Given the description of an element on the screen output the (x, y) to click on. 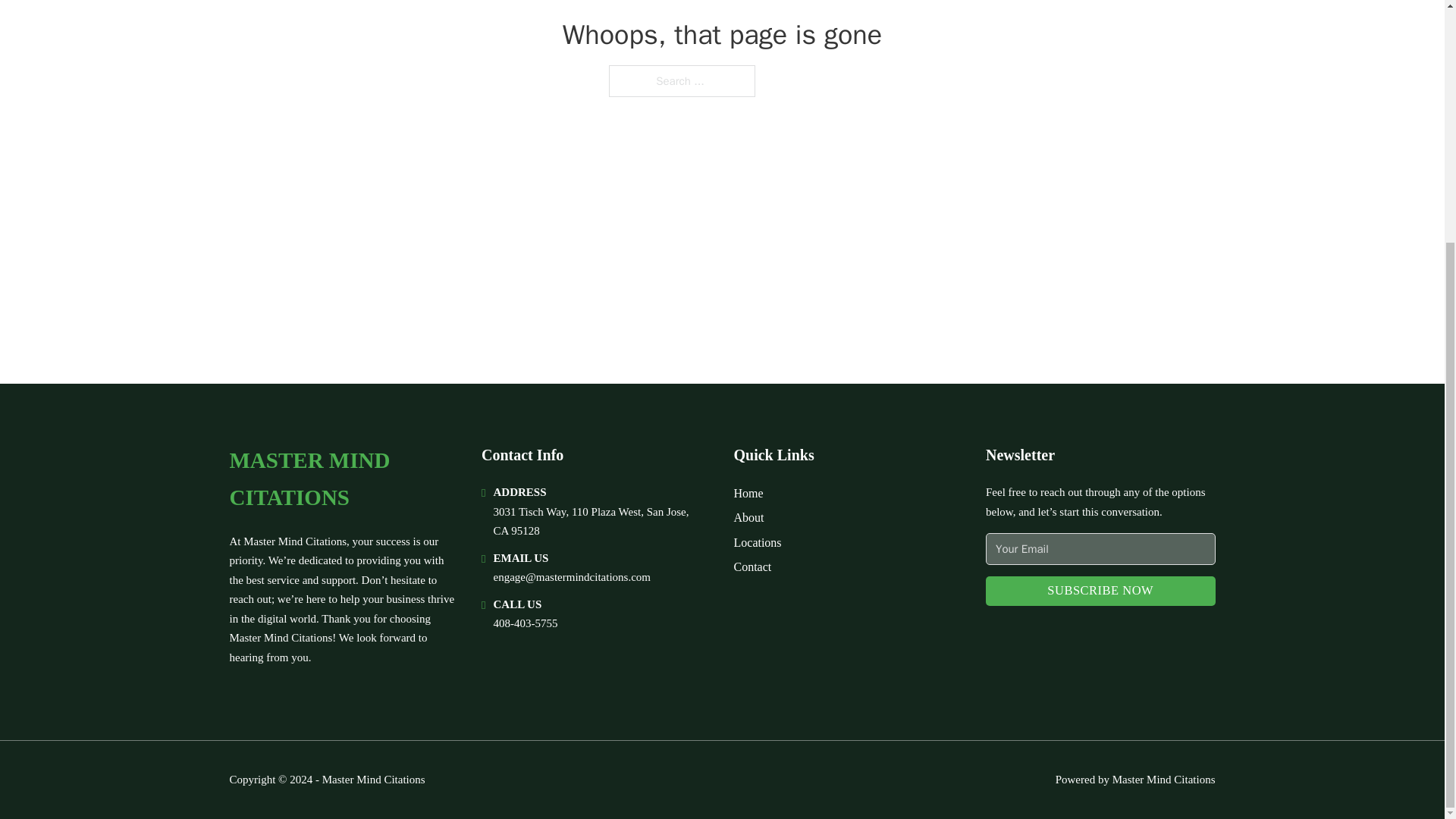
Contact (752, 566)
MASTER MIND CITATIONS (343, 479)
Home (747, 493)
Locations (757, 542)
SUBSCRIBE NOW (1100, 591)
About (748, 516)
408-403-5755 (525, 623)
